Given the description of an element on the screen output the (x, y) to click on. 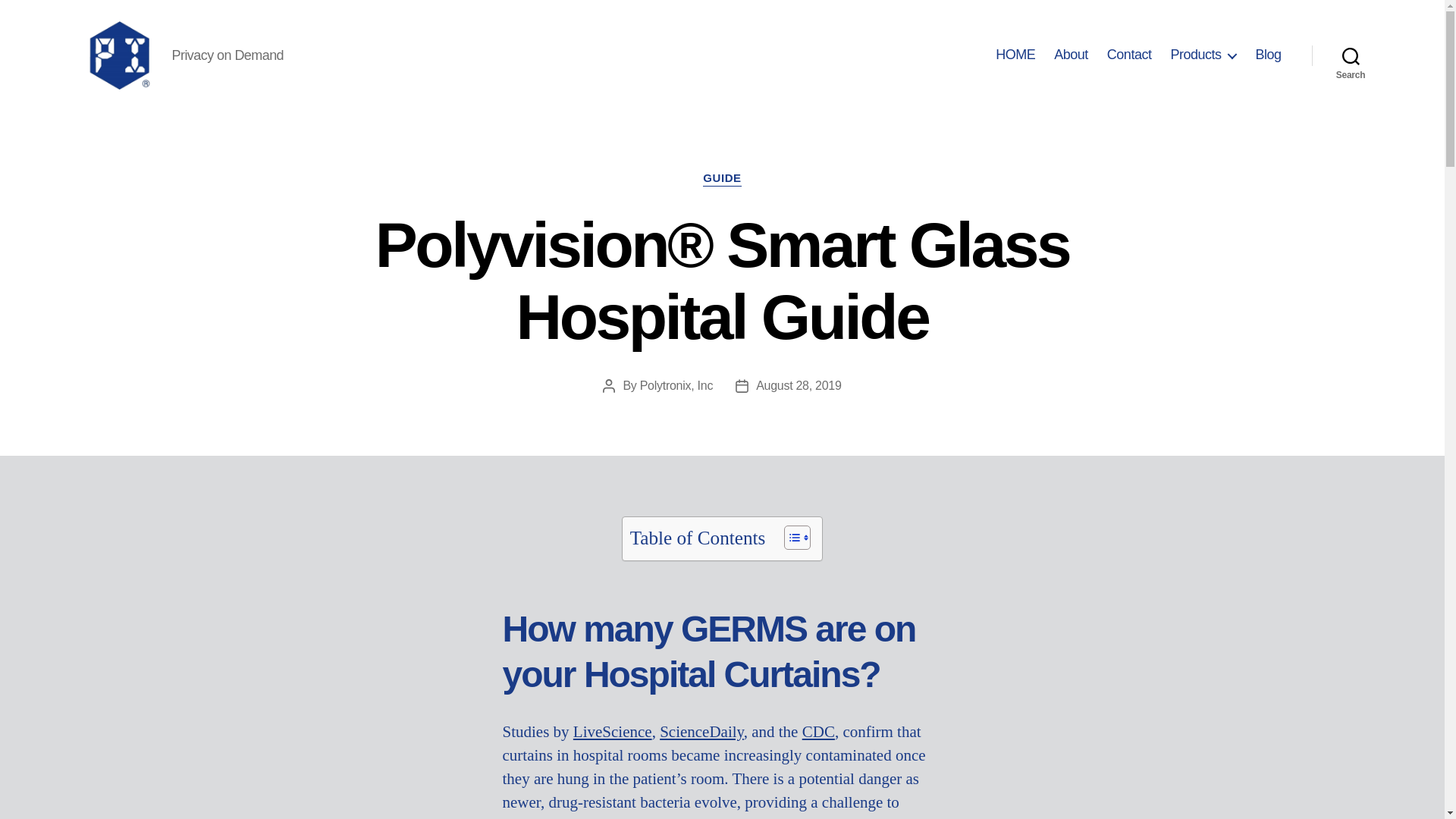
August 28, 2019 (798, 385)
Blog (1268, 54)
LiveScience (612, 731)
ScienceDaily (701, 731)
Polytronix, Inc (676, 385)
CDC (818, 731)
Contact (1128, 54)
Search (1350, 55)
About (1070, 54)
GUIDE (722, 178)
HOME (1015, 54)
Products (1203, 54)
